Given the description of an element on the screen output the (x, y) to click on. 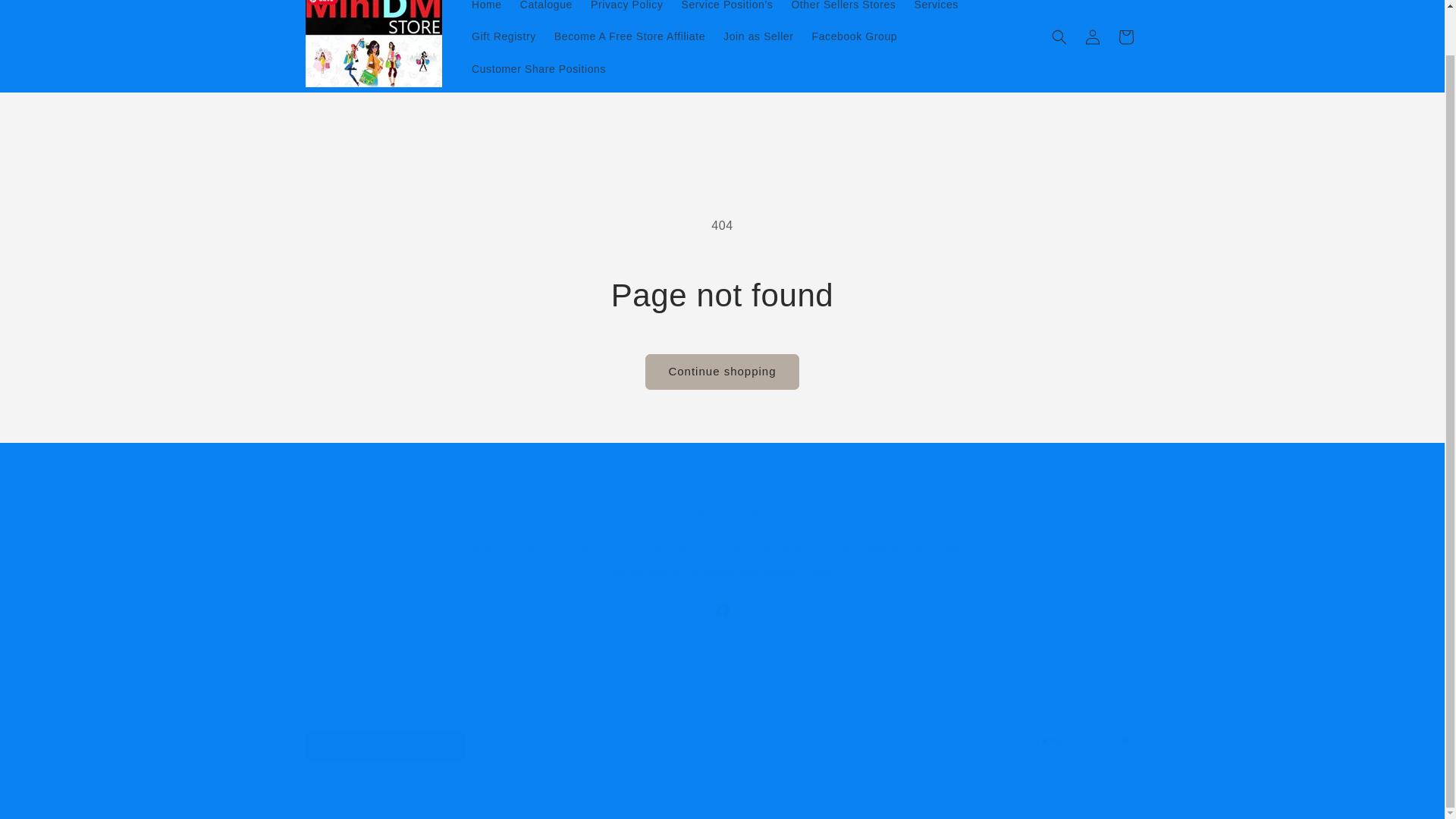
Continue shopping (721, 371)
Contact Detalis (858, 546)
Catalogue (545, 10)
Service Position's (569, 546)
Privacy Policy (626, 10)
Refund policy (768, 546)
Services (935, 10)
Terms of Service (674, 546)
Facebook (721, 611)
Search (491, 548)
Join as Seller (758, 36)
Log in (1091, 37)
Service Position's (727, 10)
